Given the description of an element on the screen output the (x, y) to click on. 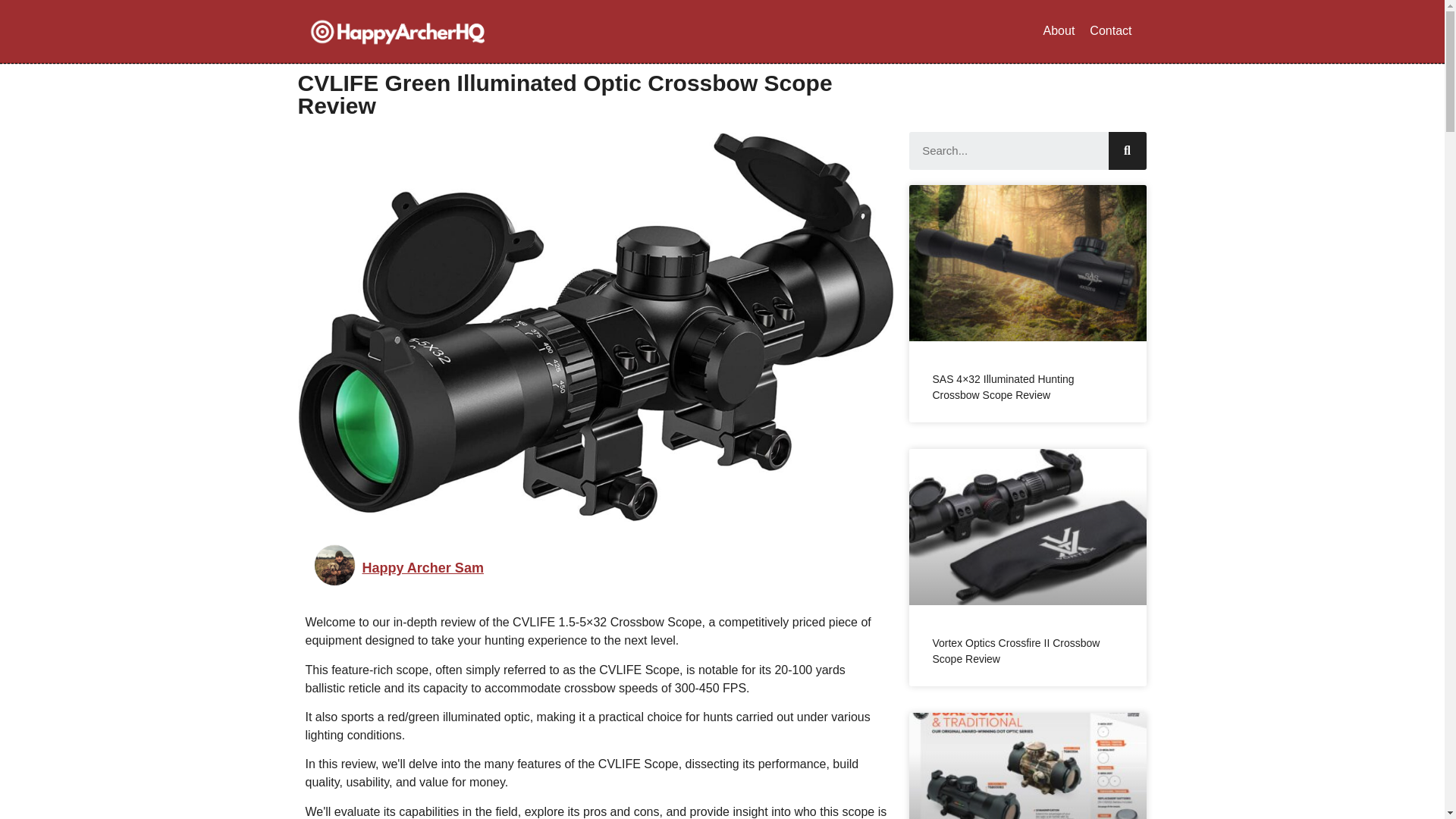
About (1059, 30)
Vortex Optics Crossfire II Crossbow Scope Review (1015, 651)
Search (1127, 150)
Contact (1109, 30)
Happy Archer Sam (422, 568)
Search (1008, 150)
